Given the description of an element on the screen output the (x, y) to click on. 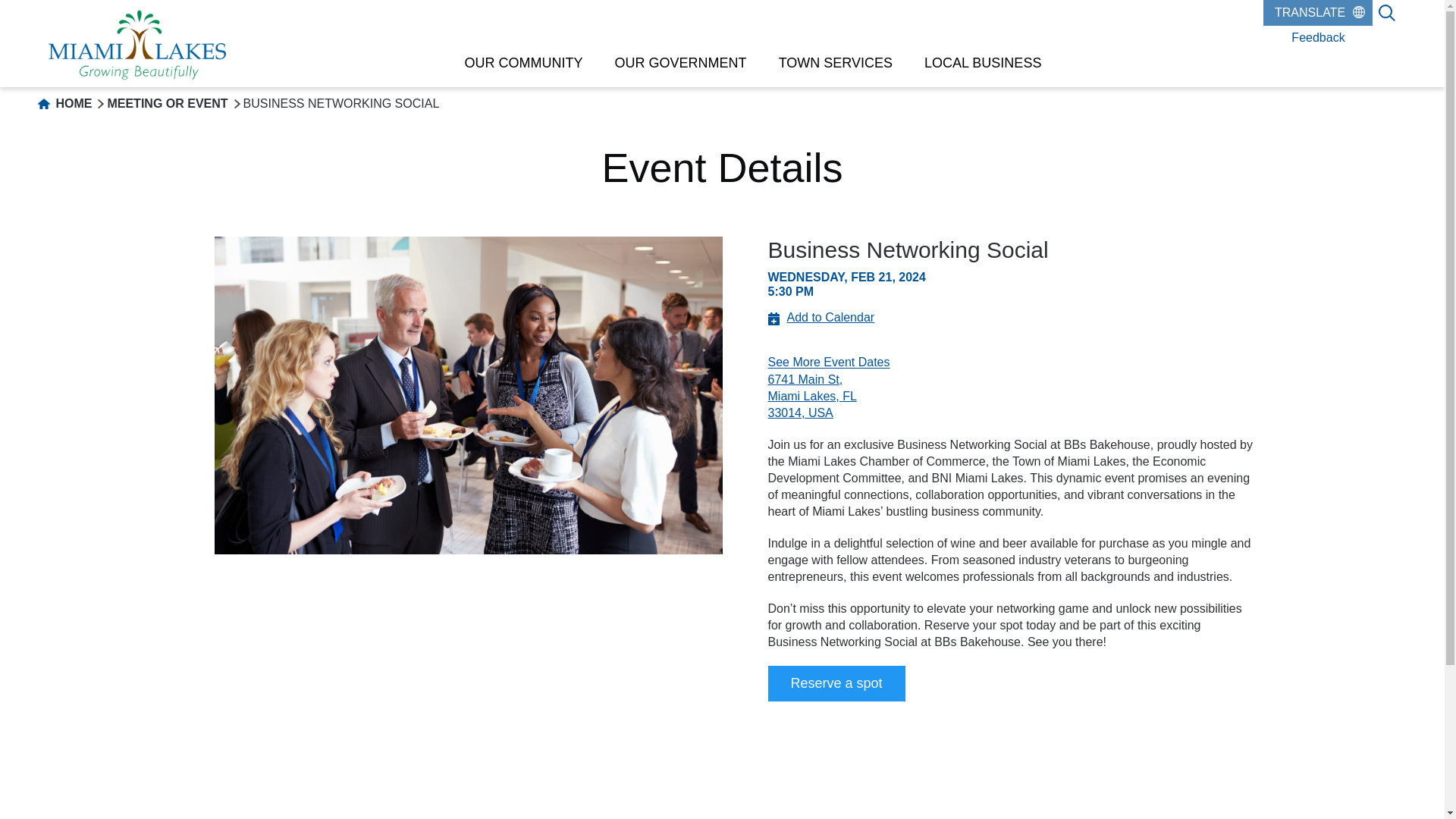
OUR GOVERNMENT (681, 62)
OUR COMMUNITY (523, 62)
